Given the description of an element on the screen output the (x, y) to click on. 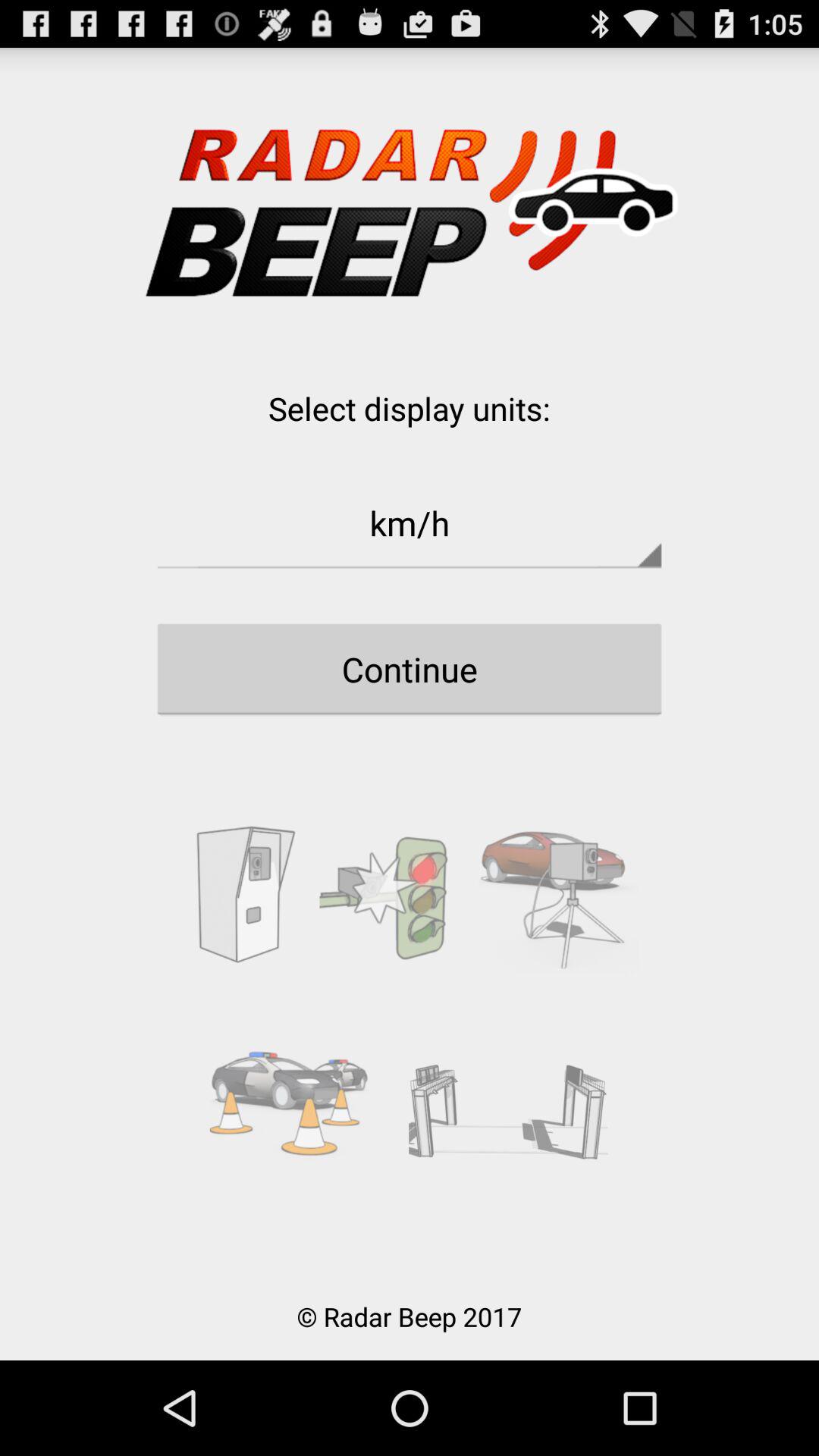
flip until the km/h item (409, 522)
